Given the description of an element on the screen output the (x, y) to click on. 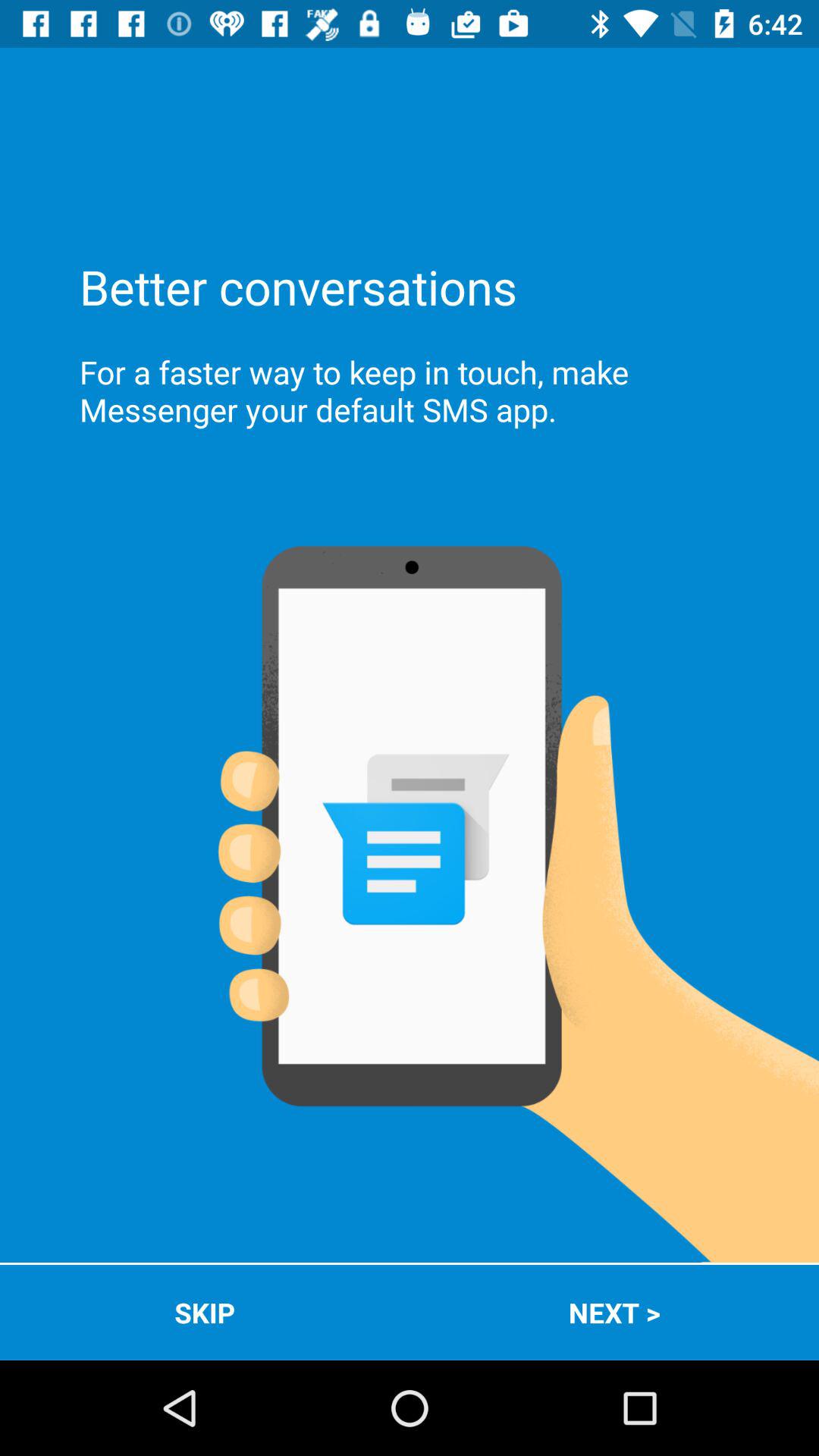
open icon next to the next > icon (204, 1312)
